Given the description of an element on the screen output the (x, y) to click on. 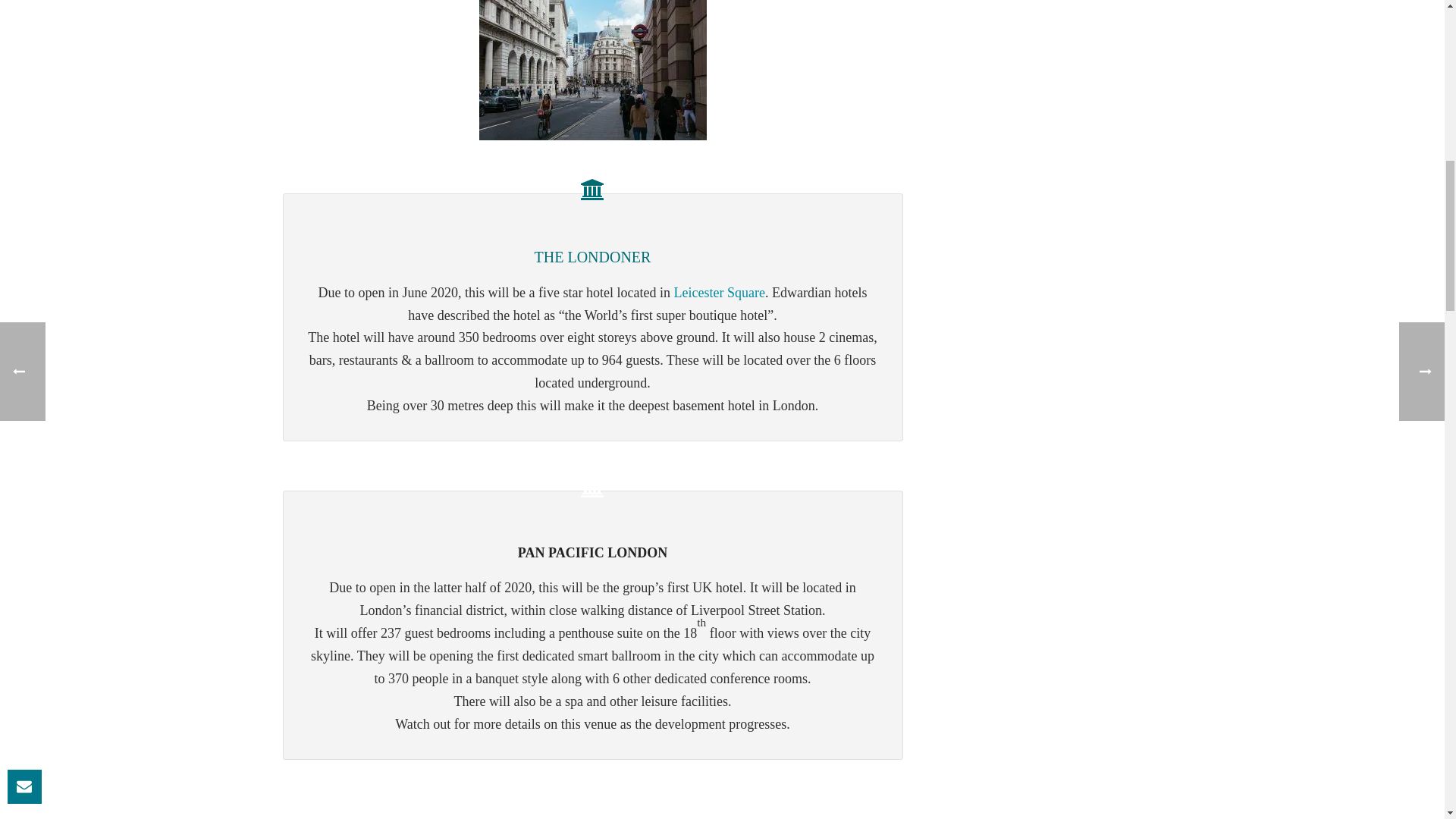
city-of-london (592, 70)
pan-pacific-london-external-tower (592, 789)
